Given the description of an element on the screen output the (x, y) to click on. 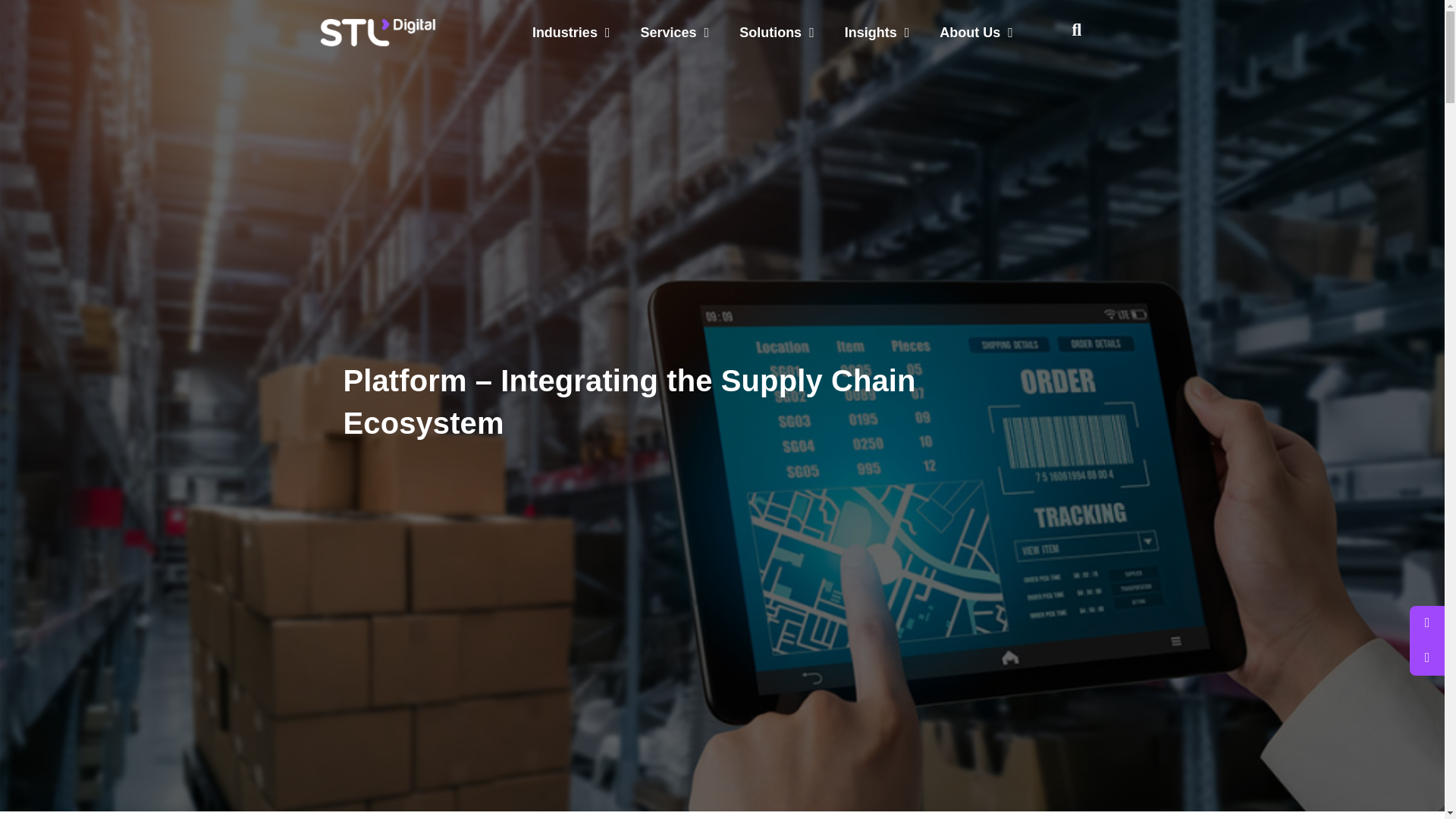
Solutions (776, 32)
Insights (876, 32)
Industries (571, 32)
About Us (975, 32)
Services (673, 32)
